Given the description of an element on the screen output the (x, y) to click on. 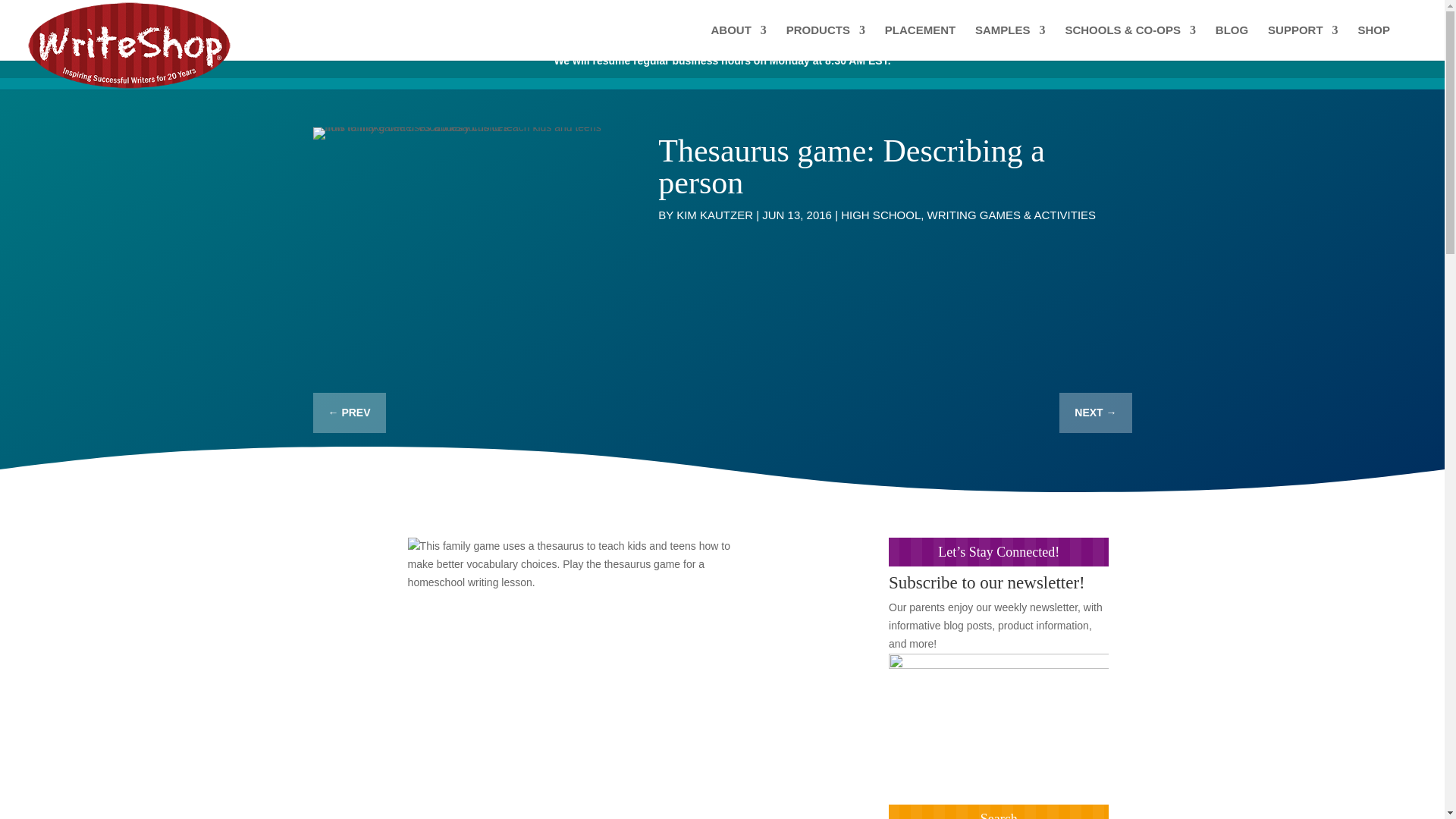
PLACEMENT (920, 42)
KIM KAUTZER (714, 214)
HIGH SCHOOL (880, 214)
Thesaurus Game for Describing a Person (462, 133)
SAMPLES (1010, 42)
ABOUT (739, 42)
PRODUCTS (825, 42)
Posts by Kim Kautzer (714, 214)
SUPPORT (1303, 42)
SHOP (1373, 42)
BLOG (1231, 42)
